Given the description of an element on the screen output the (x, y) to click on. 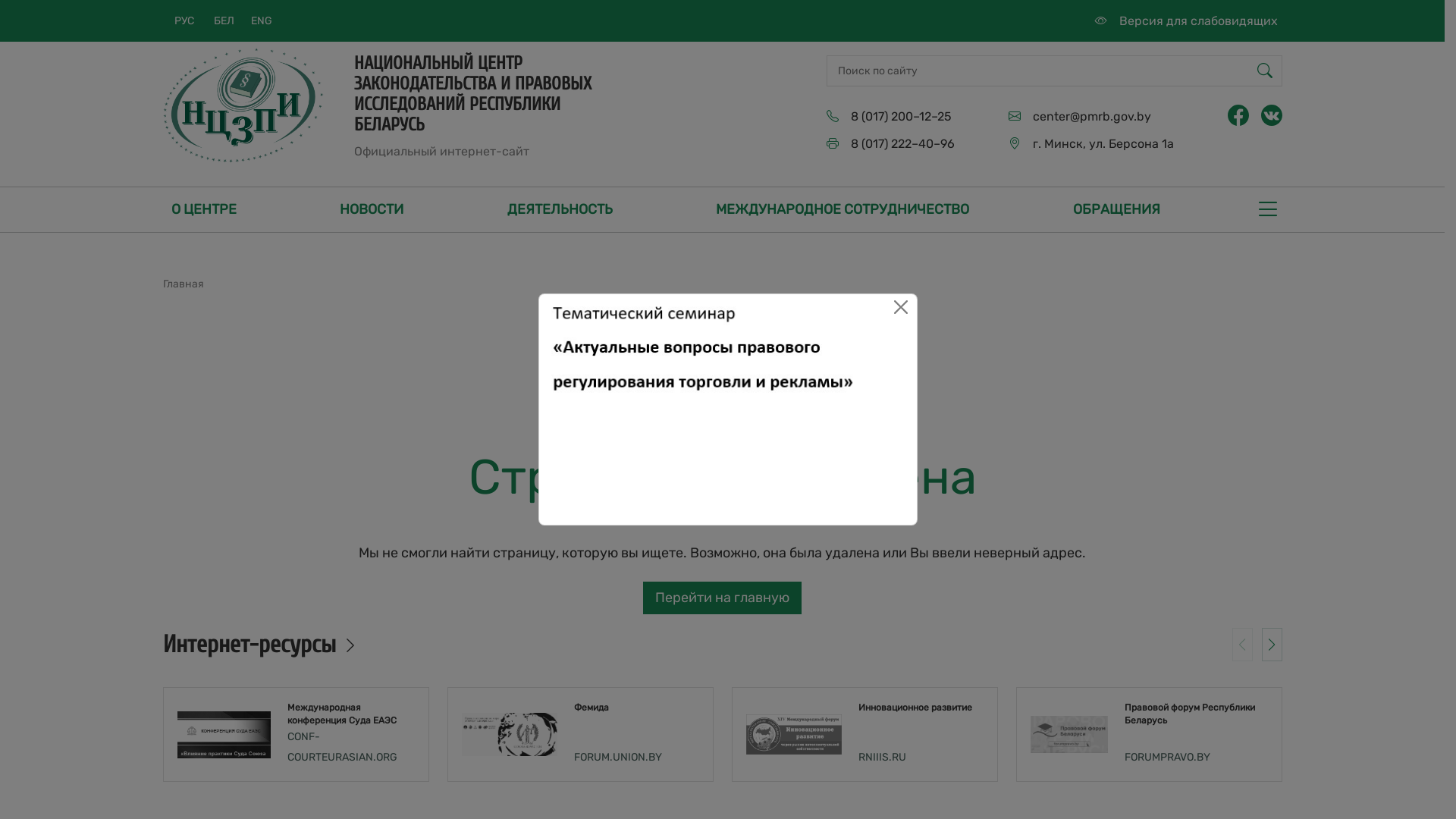
center@pmrb.gov.by Element type: text (1091, 116)
  Element type: text (727, 422)
